Given the description of an element on the screen output the (x, y) to click on. 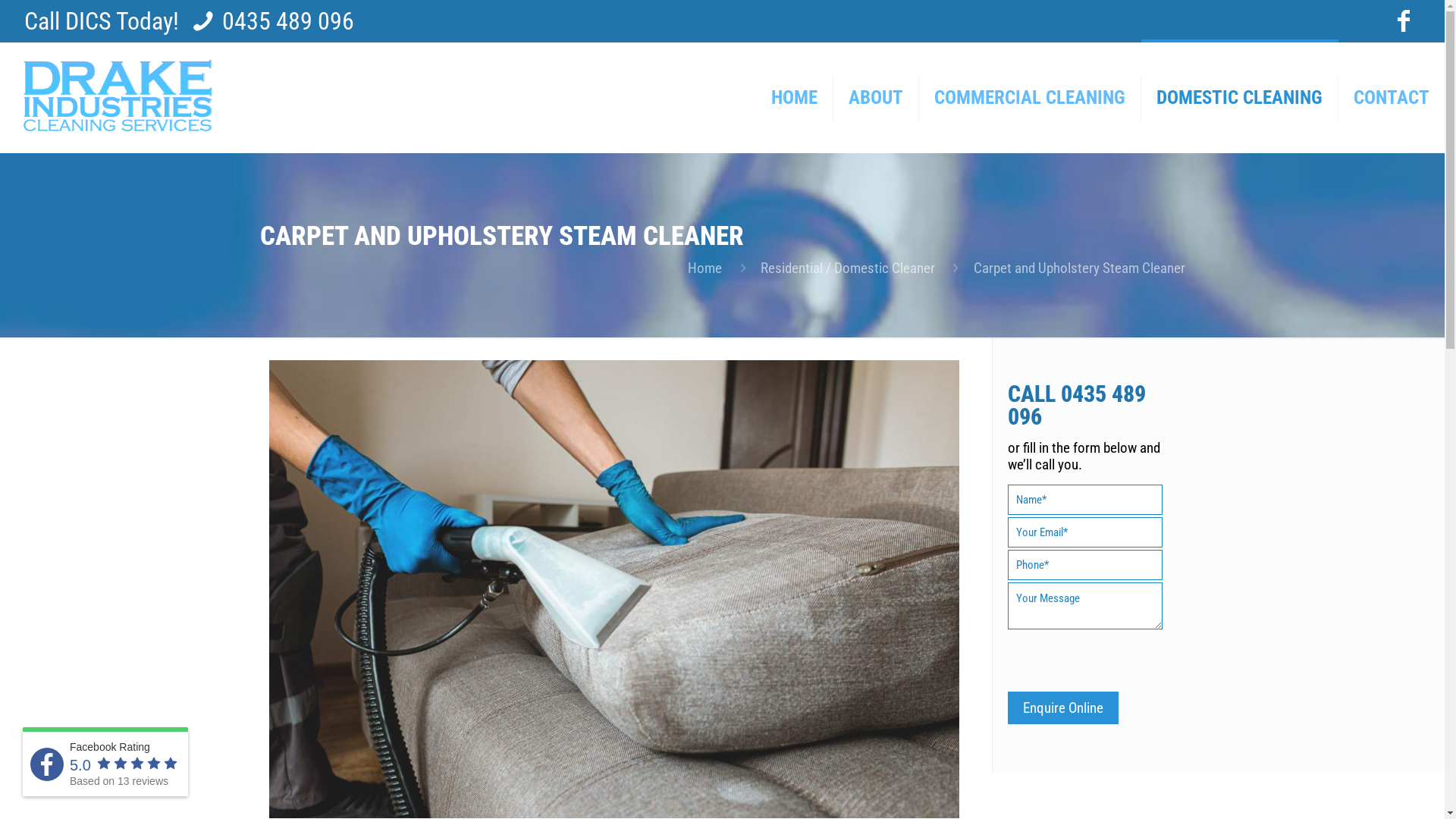
Facebook Element type: hover (1403, 20)
DOMESTIC CLEANING Element type: text (1239, 97)
HOME Element type: text (794, 97)
0435 489 096 Element type: text (1076, 404)
Home Element type: text (704, 267)
COMMERCIAL CLEANING Element type: text (1030, 97)
0435 489 096 Element type: text (288, 20)
Enquire Online Element type: text (1062, 707)
Residential / Domestic Cleaner Element type: text (847, 267)
ABOUT Element type: text (876, 97)
Drake Industries Cleaning Services Element type: hover (117, 97)
CONTACT Element type: text (1391, 97)
